Given the description of an element on the screen output the (x, y) to click on. 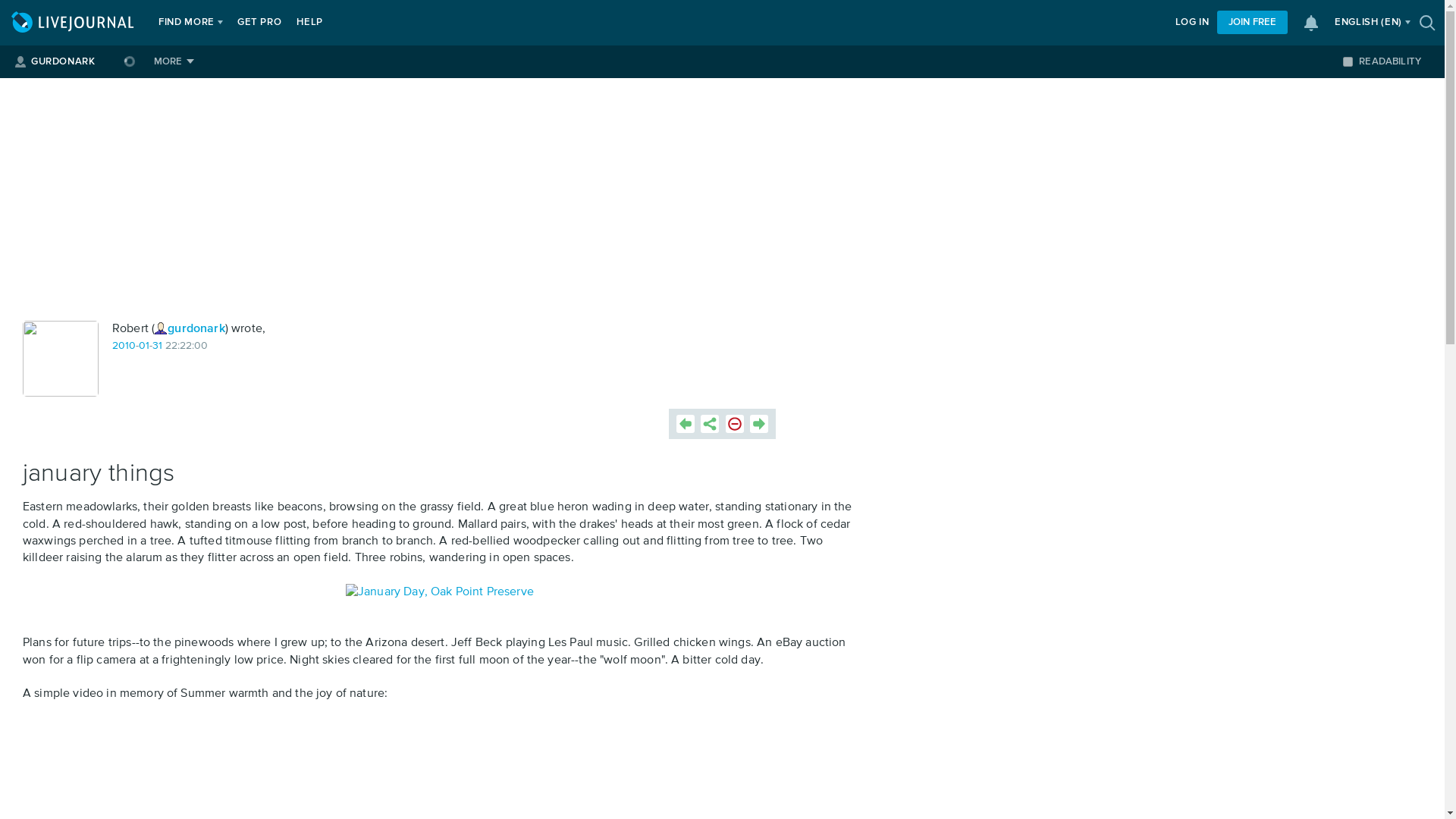
FIND MORE (186, 22)
GURDONARK (62, 61)
HELP (309, 22)
Robert: abstract butterfly (61, 358)
GET PRO (259, 22)
JOIN FREE (1252, 22)
on (1347, 61)
LOG IN (1192, 22)
MORE (173, 61)
LIVEJOURNAL (73, 22)
